Given the description of an element on the screen output the (x, y) to click on. 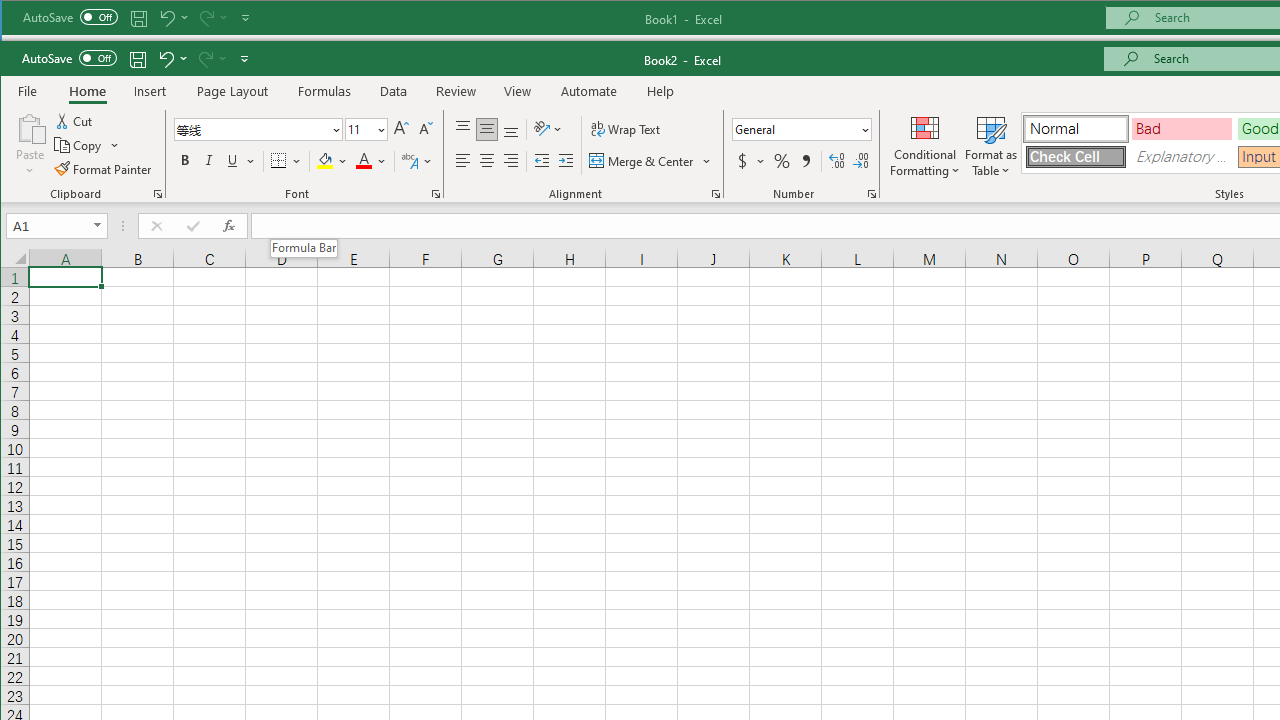
Increase Indent (566, 160)
Comma Style (805, 160)
Open (98, 225)
Customize Quick Access Toolbar (244, 58)
Top Align (462, 129)
Cut (74, 121)
View (518, 91)
Borders (285, 160)
Home (87, 91)
Save (138, 58)
Normal (1075, 129)
Quick Access Toolbar (136, 58)
